Given the description of an element on the screen output the (x, y) to click on. 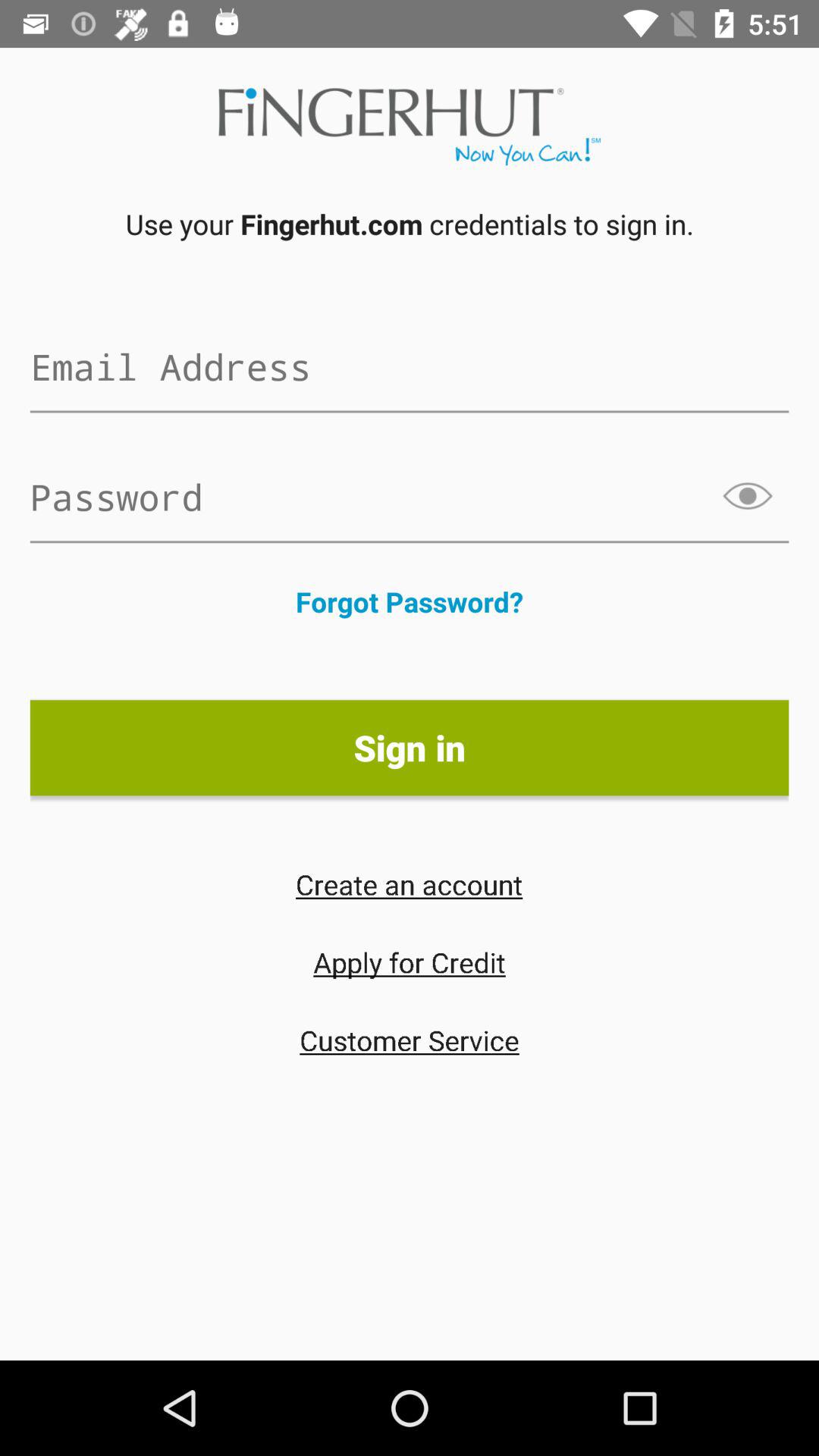
jump until create an account icon (408, 884)
